Given the description of an element on the screen output the (x, y) to click on. 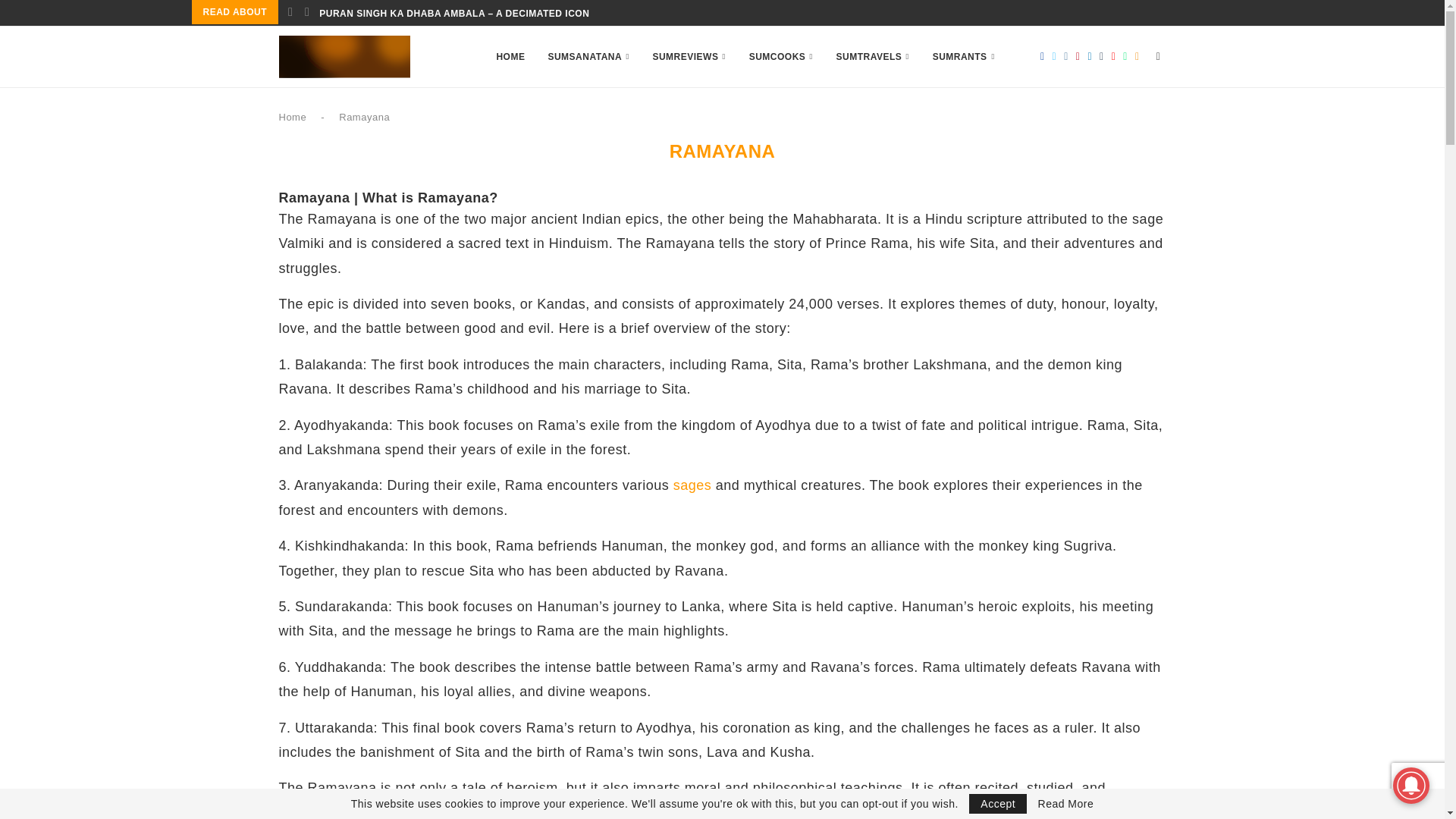
SUMSANATANA (587, 56)
India (659, 812)
SUMREVIEWS (688, 56)
SUMCOOKS (781, 56)
